Given the description of an element on the screen output the (x, y) to click on. 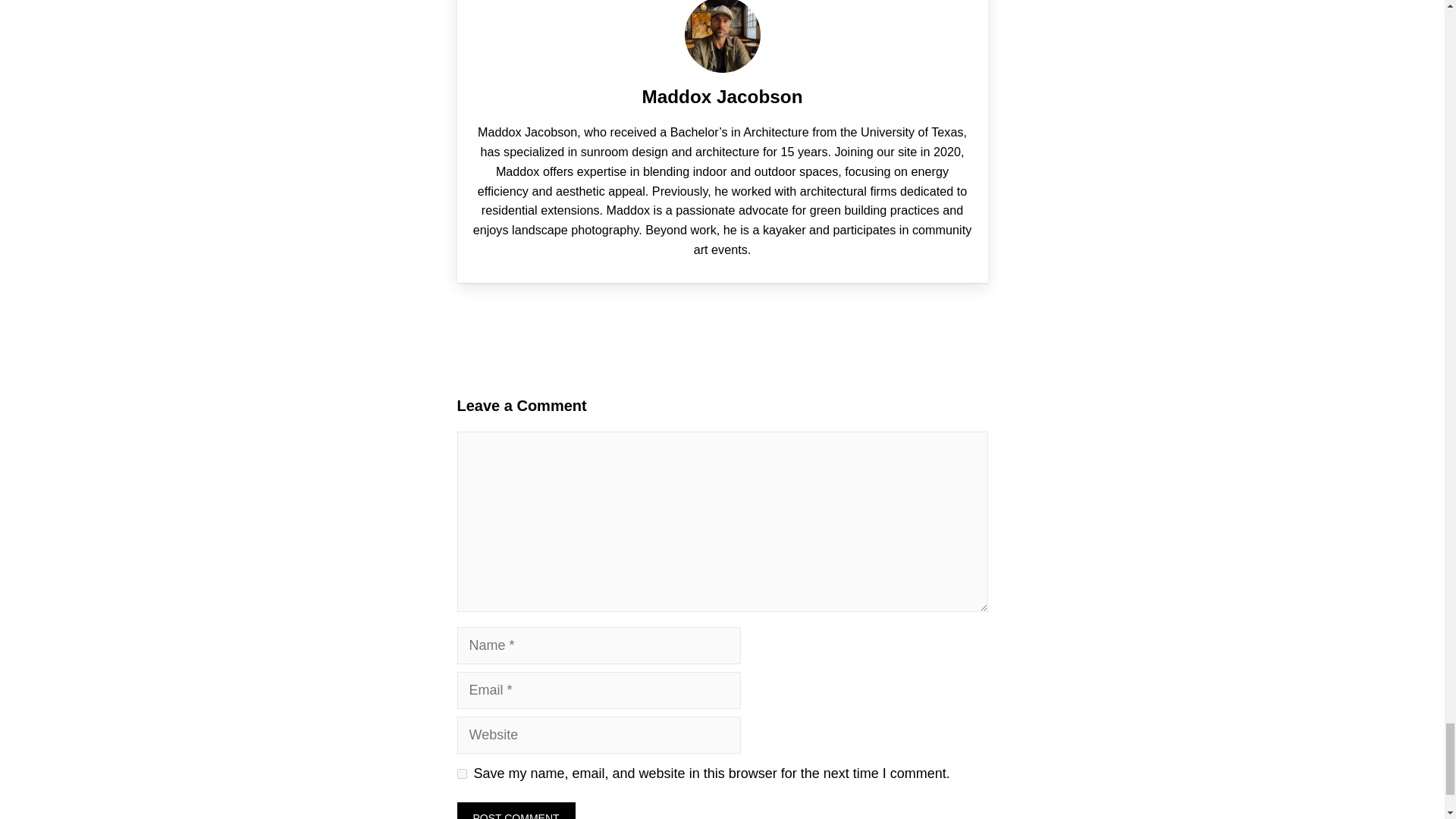
Post Comment (516, 810)
yes (461, 773)
